Given the description of an element on the screen output the (x, y) to click on. 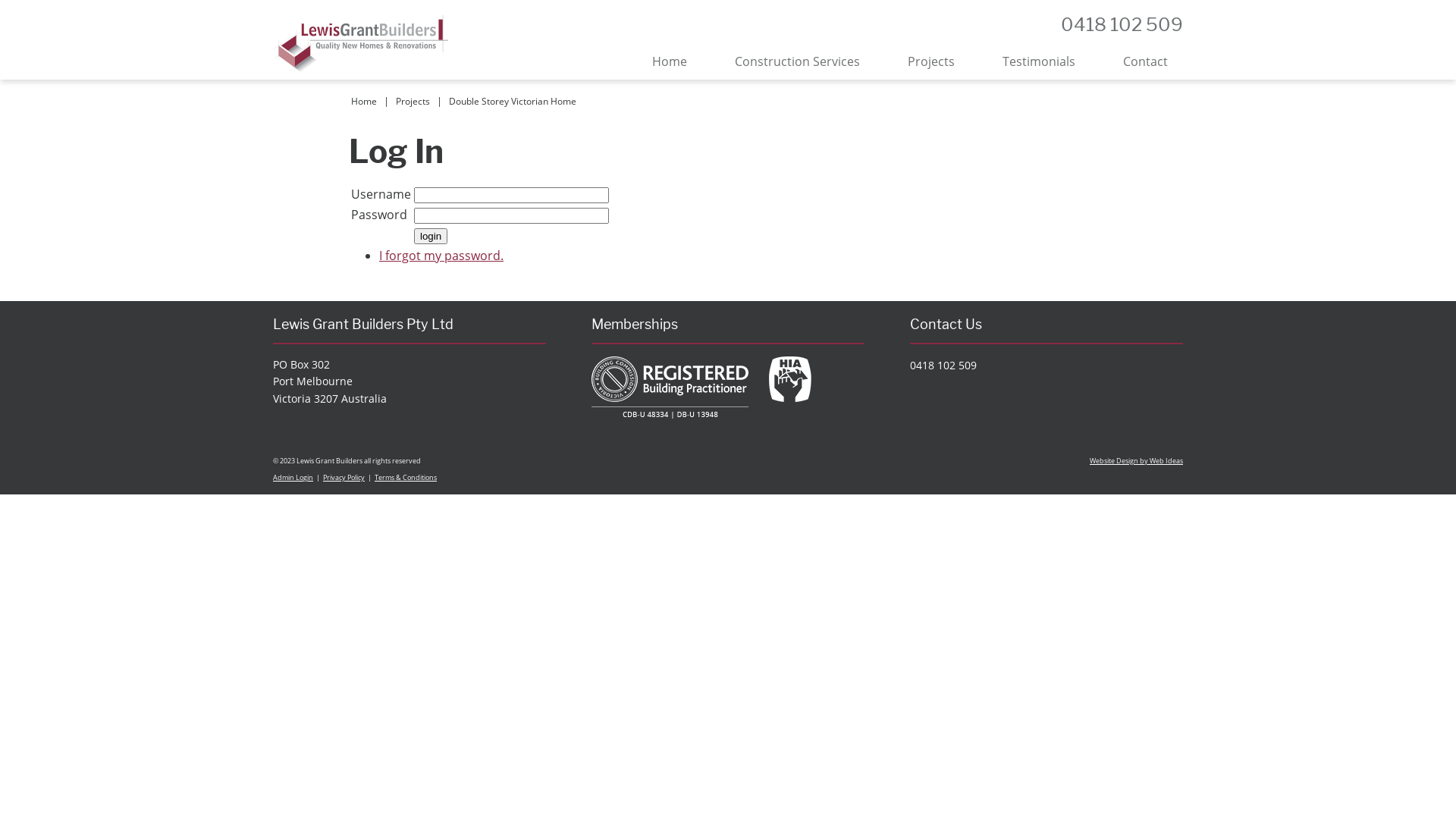
login Element type: text (430, 236)
Home Element type: text (363, 100)
Projects Element type: text (930, 61)
Home Element type: text (669, 61)
Contact Element type: text (1145, 61)
Admin Login Element type: text (293, 477)
Terms & Conditions Element type: text (405, 477)
Projects Element type: text (412, 100)
Double Storey Victorian Home Element type: text (512, 100)
Privacy Policy Element type: text (343, 477)
0418 102 509 Element type: text (943, 364)
I forgot my password. Element type: text (441, 255)
Website Design by Web Ideas Element type: text (1136, 460)
0418 102 509 Element type: text (1121, 24)
Testimonials Element type: text (1038, 61)
Construction Services Element type: text (797, 61)
